Given the description of an element on the screen output the (x, y) to click on. 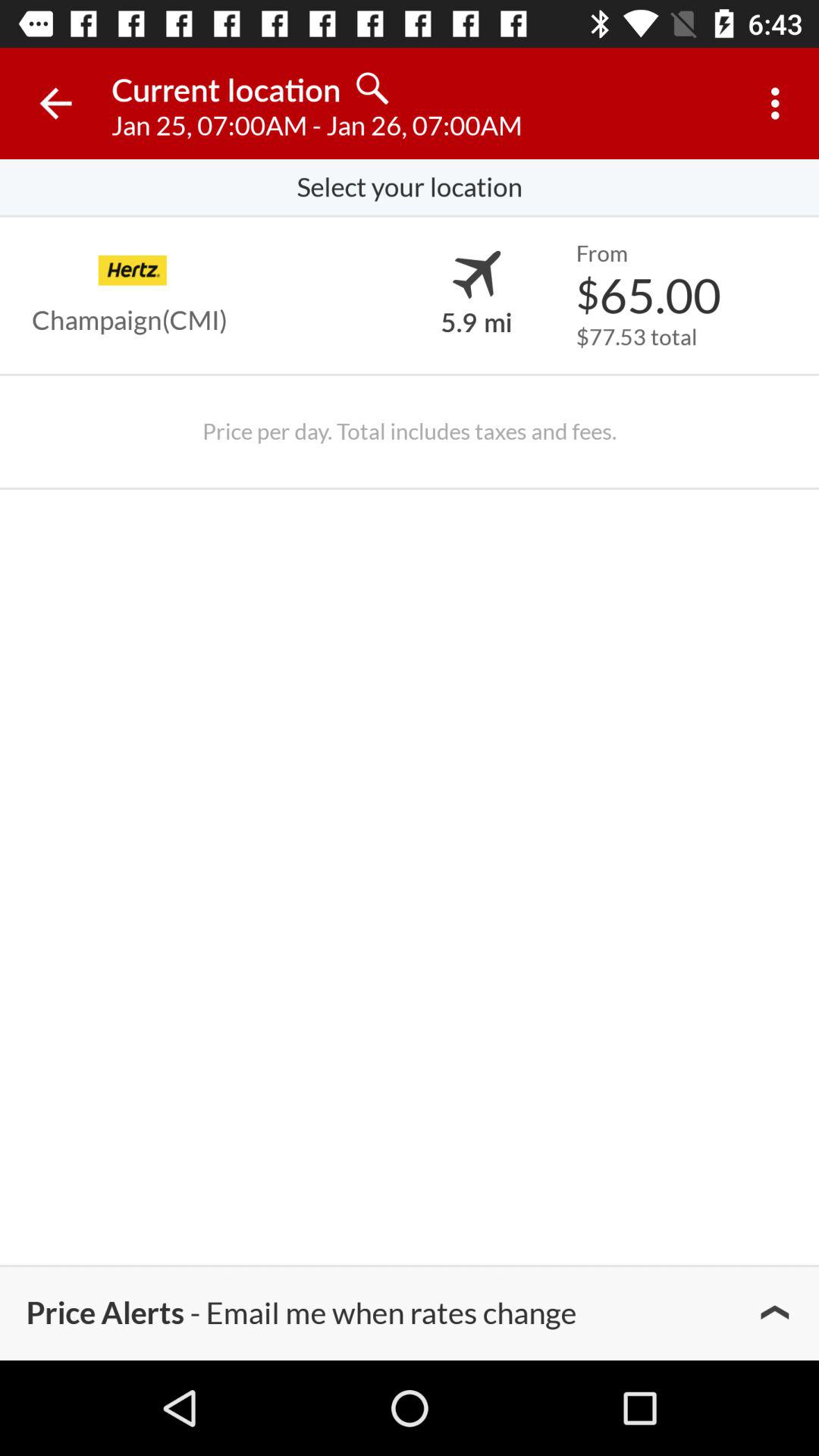
turn off champaign(cmi) (129, 319)
